Given the description of an element on the screen output the (x, y) to click on. 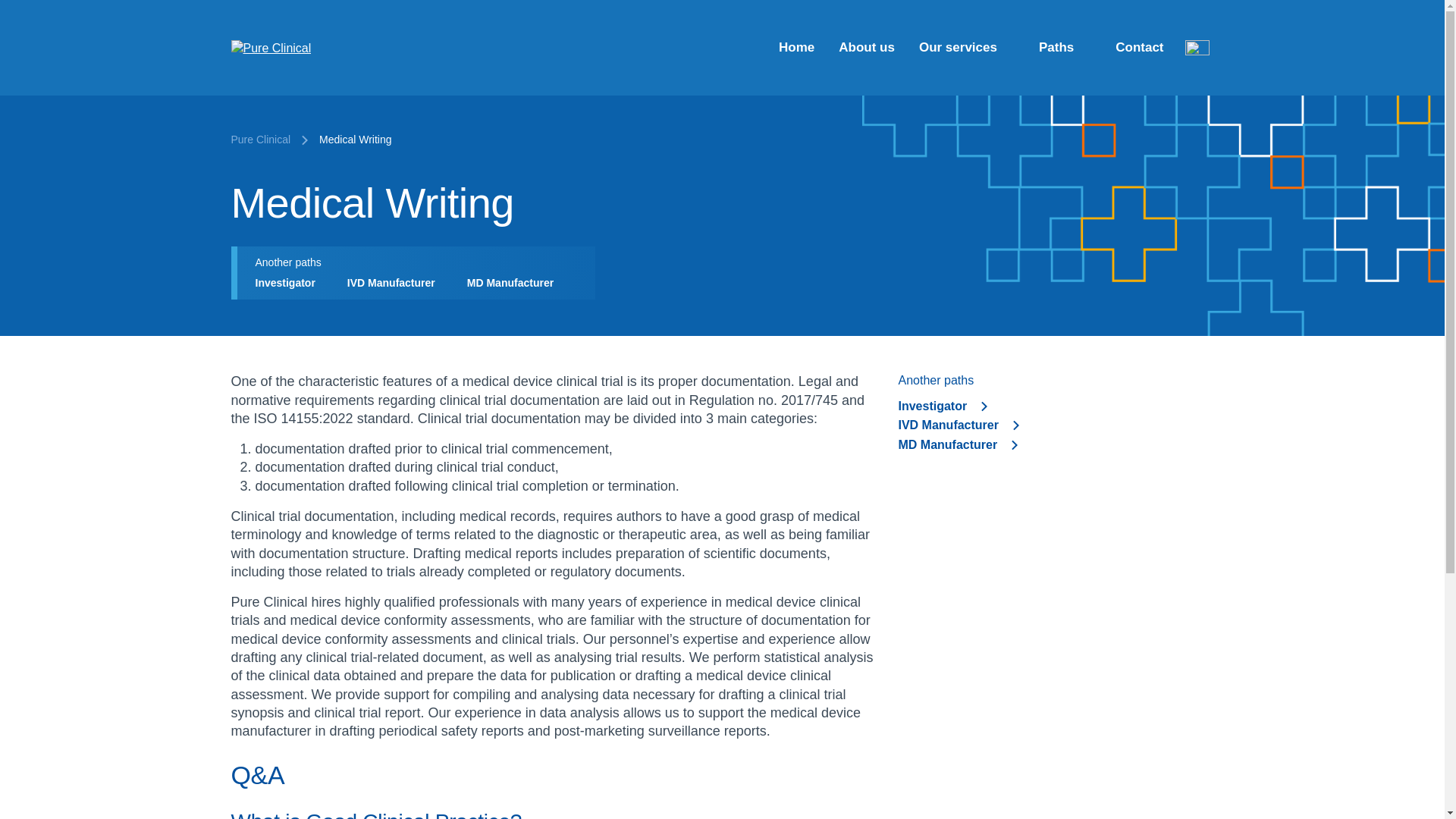
Pure Clinical (259, 139)
Our services (966, 47)
Contact (1138, 47)
About us (866, 47)
MD Manufacturer (517, 283)
MD Manufacturer (1055, 444)
IVD Manufacturer (397, 283)
Home (796, 47)
Investigator (291, 283)
IVD Manufacturer (1055, 425)
